Given the description of an element on the screen output the (x, y) to click on. 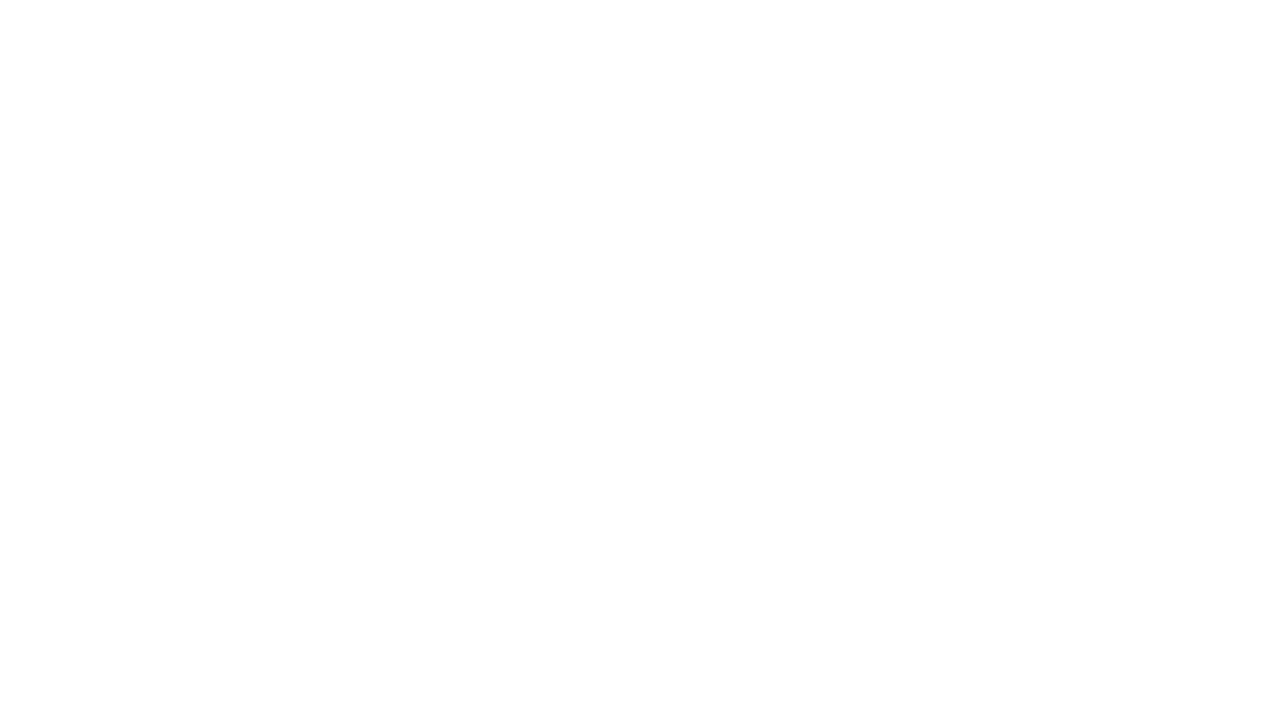
Replace (42, 96)
Context help (1206, 14)
Close (42, 70)
Find Next (42, 44)
Replace All (42, 123)
